Given the description of an element on the screen output the (x, y) to click on. 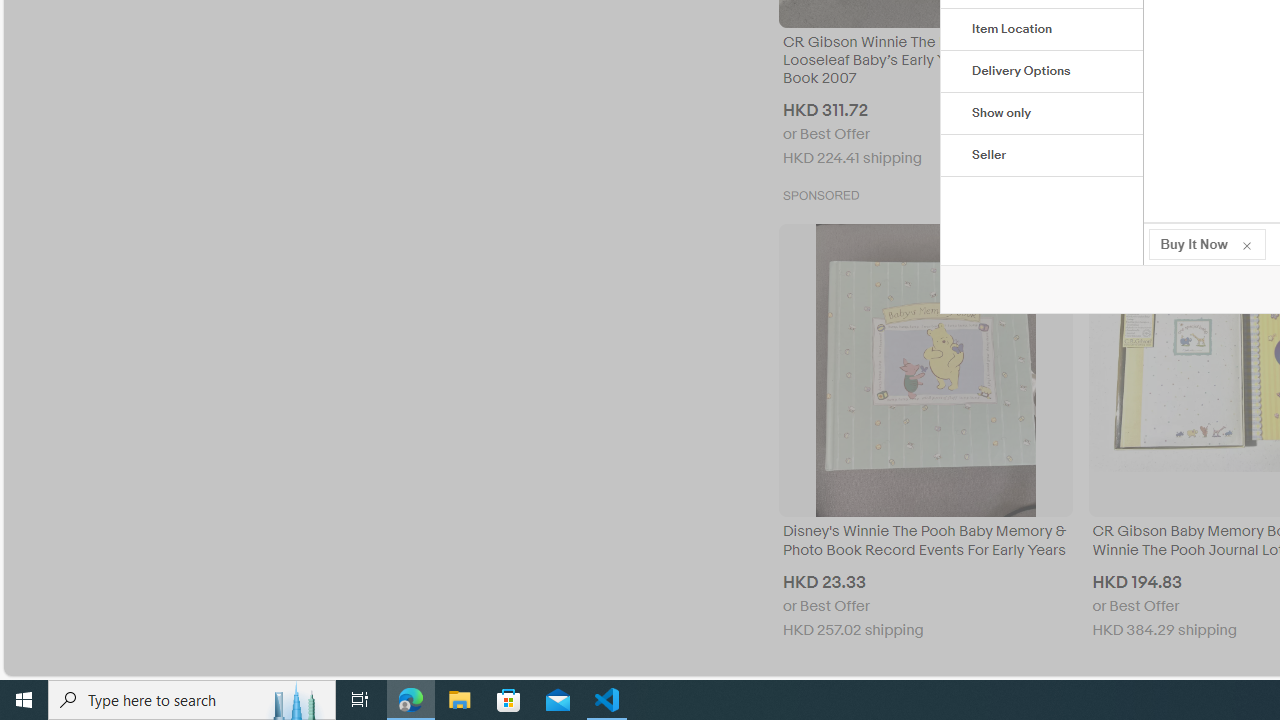
remove filter - Buy It Now (1245, 244)
Show only (1042, 113)
Item Location (1042, 29)
Seller (1042, 156)
Delivery Options (1042, 71)
